Given the description of an element on the screen output the (x, y) to click on. 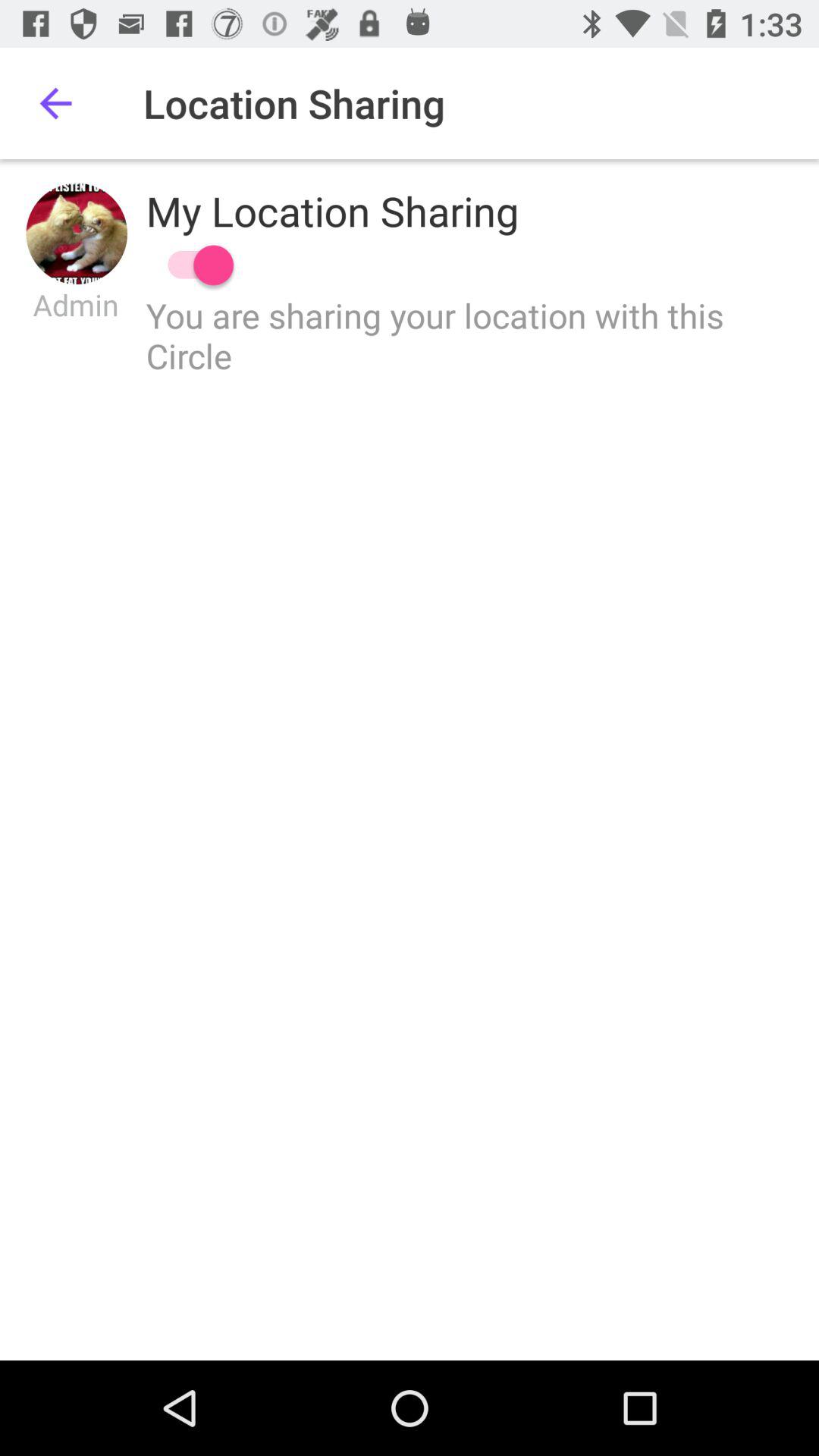
select item next to location sharing item (55, 103)
